Given the description of an element on the screen output the (x, y) to click on. 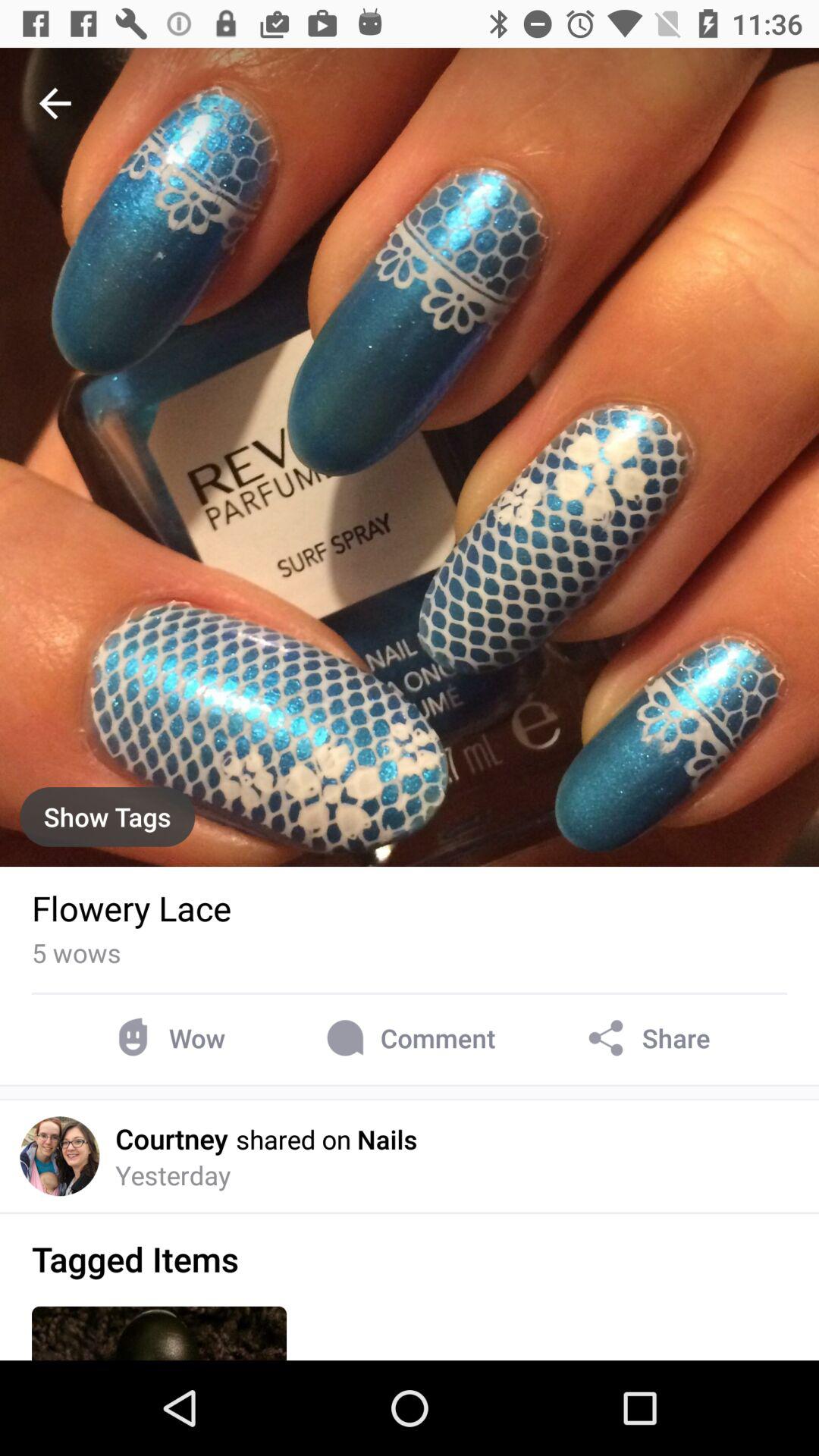
open the item above the 5 wows icon (131, 907)
